Given the description of an element on the screen output the (x, y) to click on. 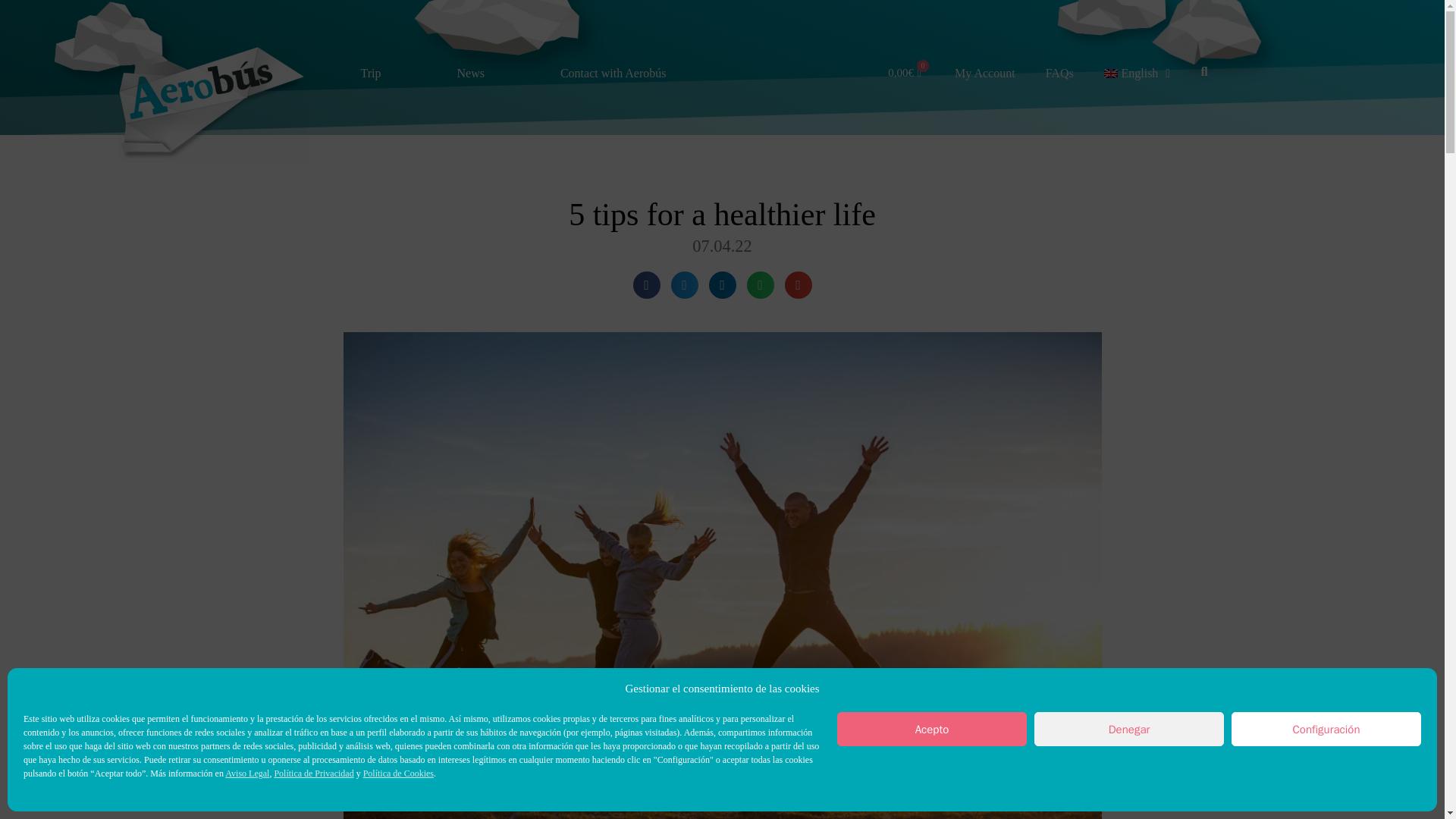
Trip (369, 67)
Aviso Legal (247, 773)
My Account (984, 73)
News (470, 72)
FAQs (1059, 73)
English (1137, 73)
Acepto (931, 728)
Denegar (1128, 728)
logo-airplane (212, 104)
